Given the description of an element on the screen output the (x, y) to click on. 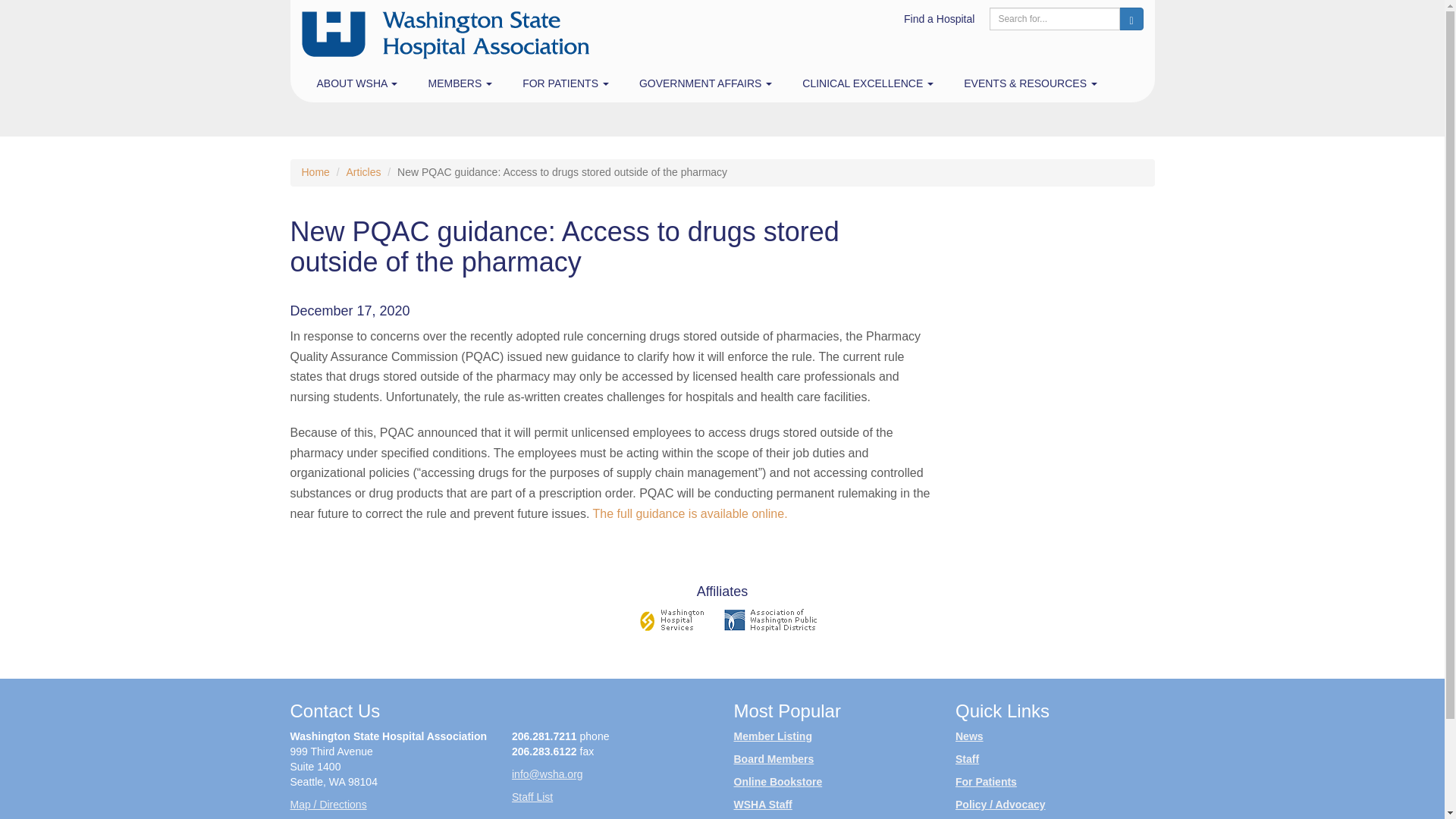
MEMBERS (459, 83)
Find a Hospital (938, 18)
FOR PATIENTS (565, 83)
GOVERNMENT AFFAIRS (705, 83)
ABOUT WSHA (357, 83)
Search (1130, 18)
